Given the description of an element on the screen output the (x, y) to click on. 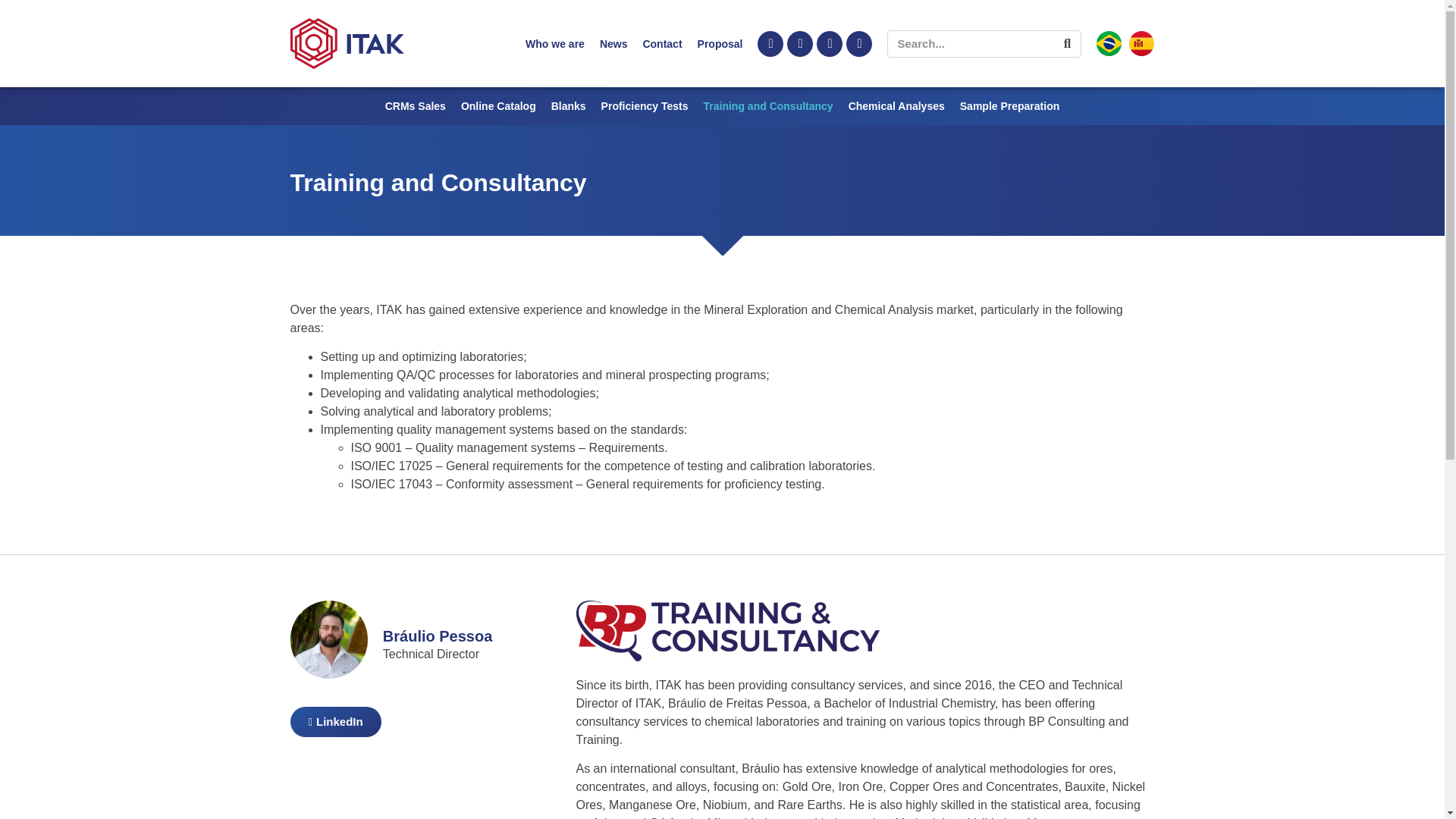
Contact (661, 43)
Proposal (719, 43)
CRMs Sales (415, 105)
Training and Consultancy (767, 105)
Online Catalog (498, 105)
Chemical Analyses (896, 105)
LinkedIn (334, 721)
Proficiency Tests (644, 105)
Who we are (555, 43)
Blanks (568, 105)
